Given the description of an element on the screen output the (x, y) to click on. 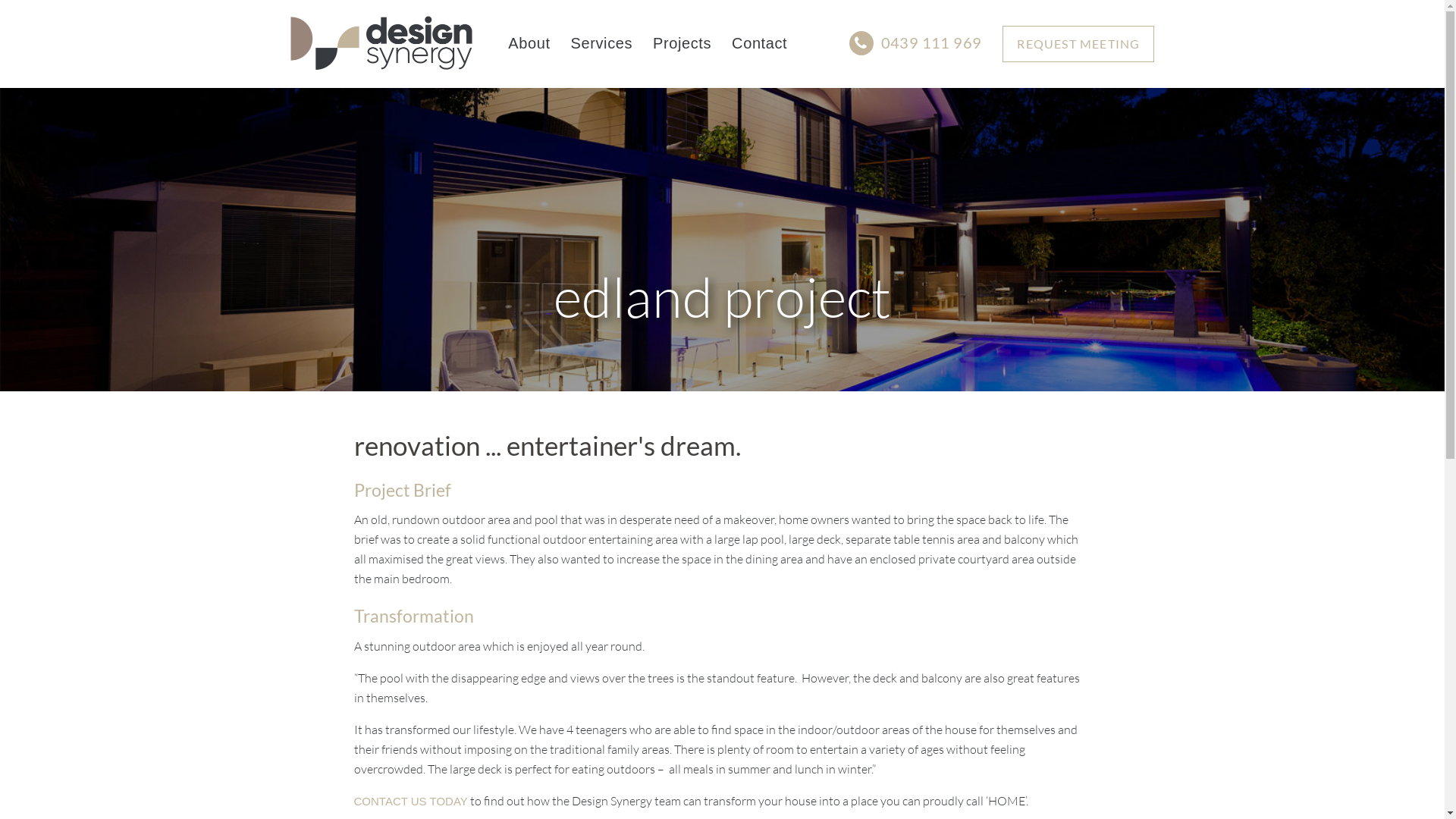
Projects Element type: text (681, 42)
Contact Element type: text (759, 42)
0439 111 969 Element type: text (915, 42)
About Element type: text (528, 42)
CONTACT US TODAY Element type: text (410, 800)
Services Element type: text (602, 42)
REQUEST MEETING Element type: text (1078, 43)
